Given the description of an element on the screen output the (x, y) to click on. 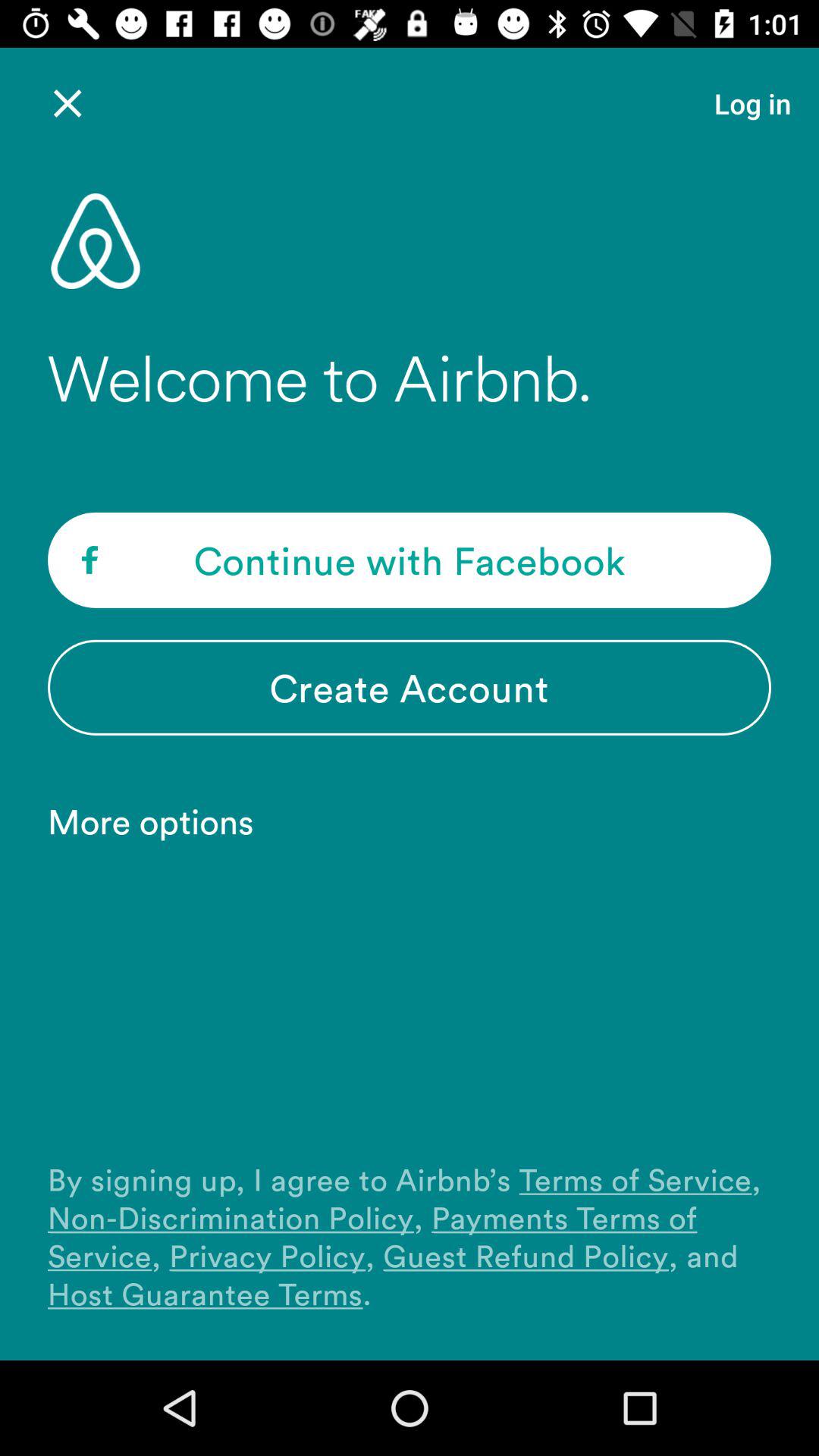
select the icon above by signing up icon (158, 820)
